Given the description of an element on the screen output the (x, y) to click on. 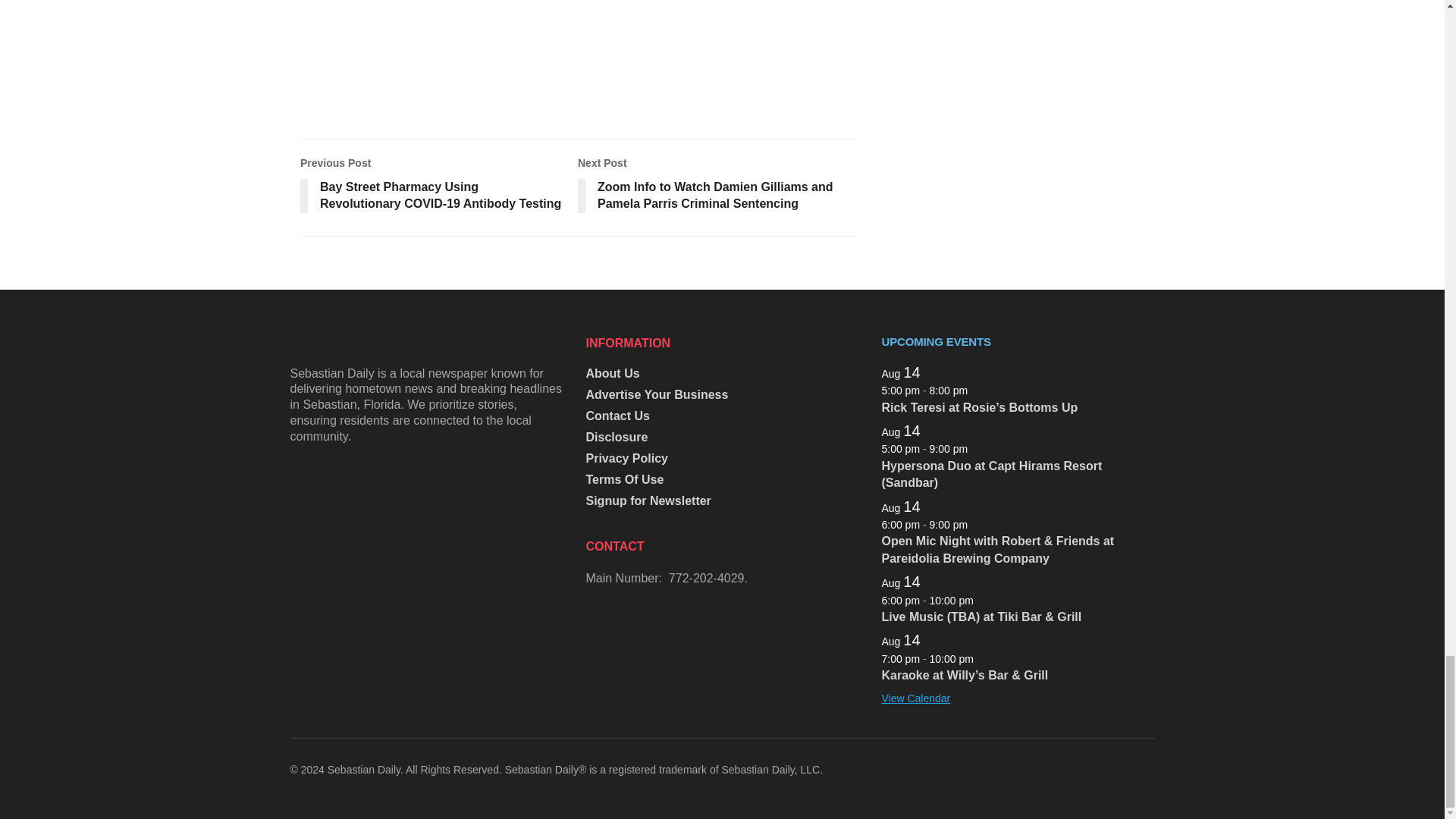
Event Series (976, 523)
Event Series (976, 388)
Event Series (981, 657)
Event Series (976, 447)
3rd party ad content (577, 40)
